Given the description of an element on the screen output the (x, y) to click on. 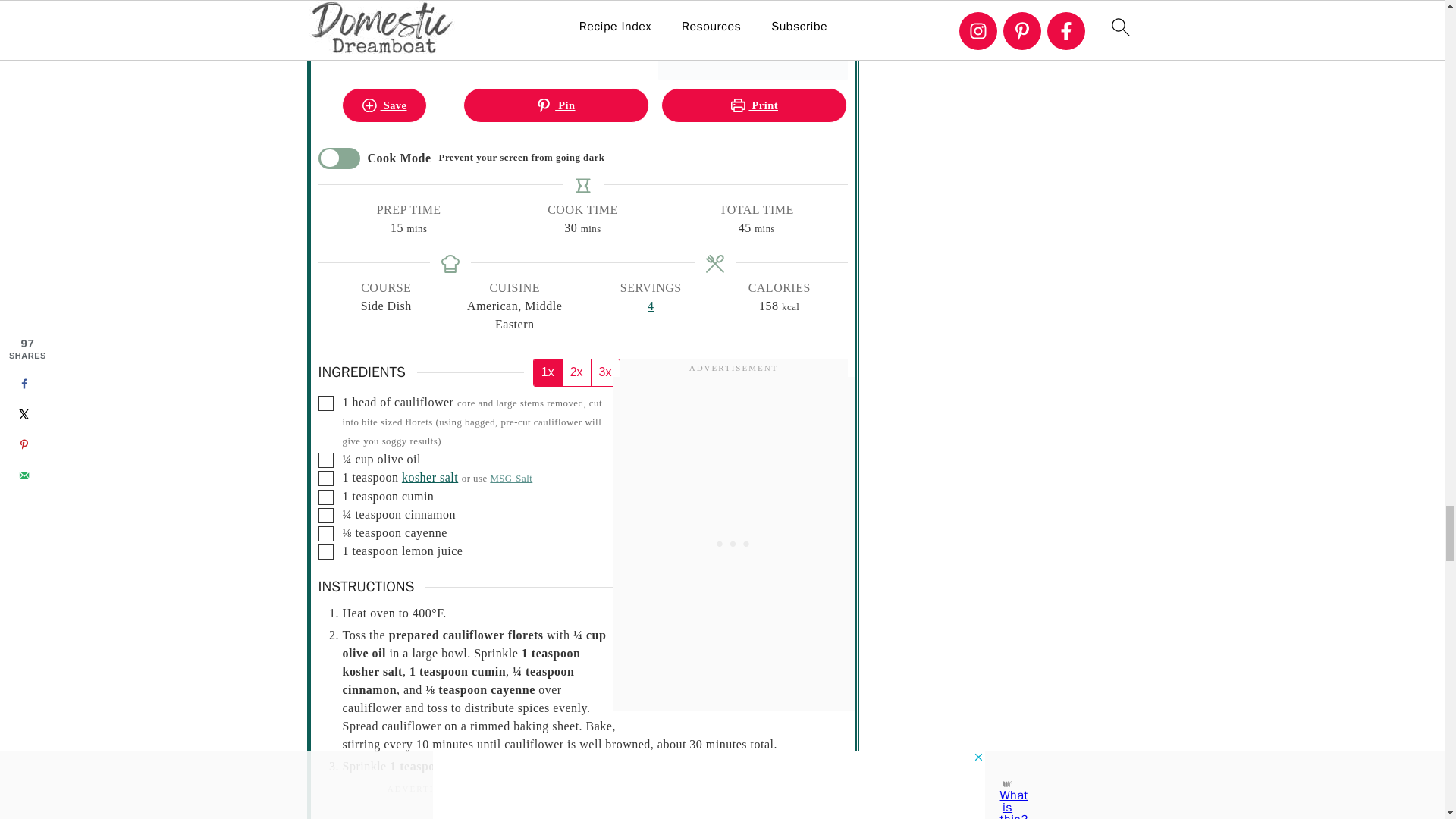
Crispy Roasted Cauliflower (752, 40)
